Given the description of an element on the screen output the (x, y) to click on. 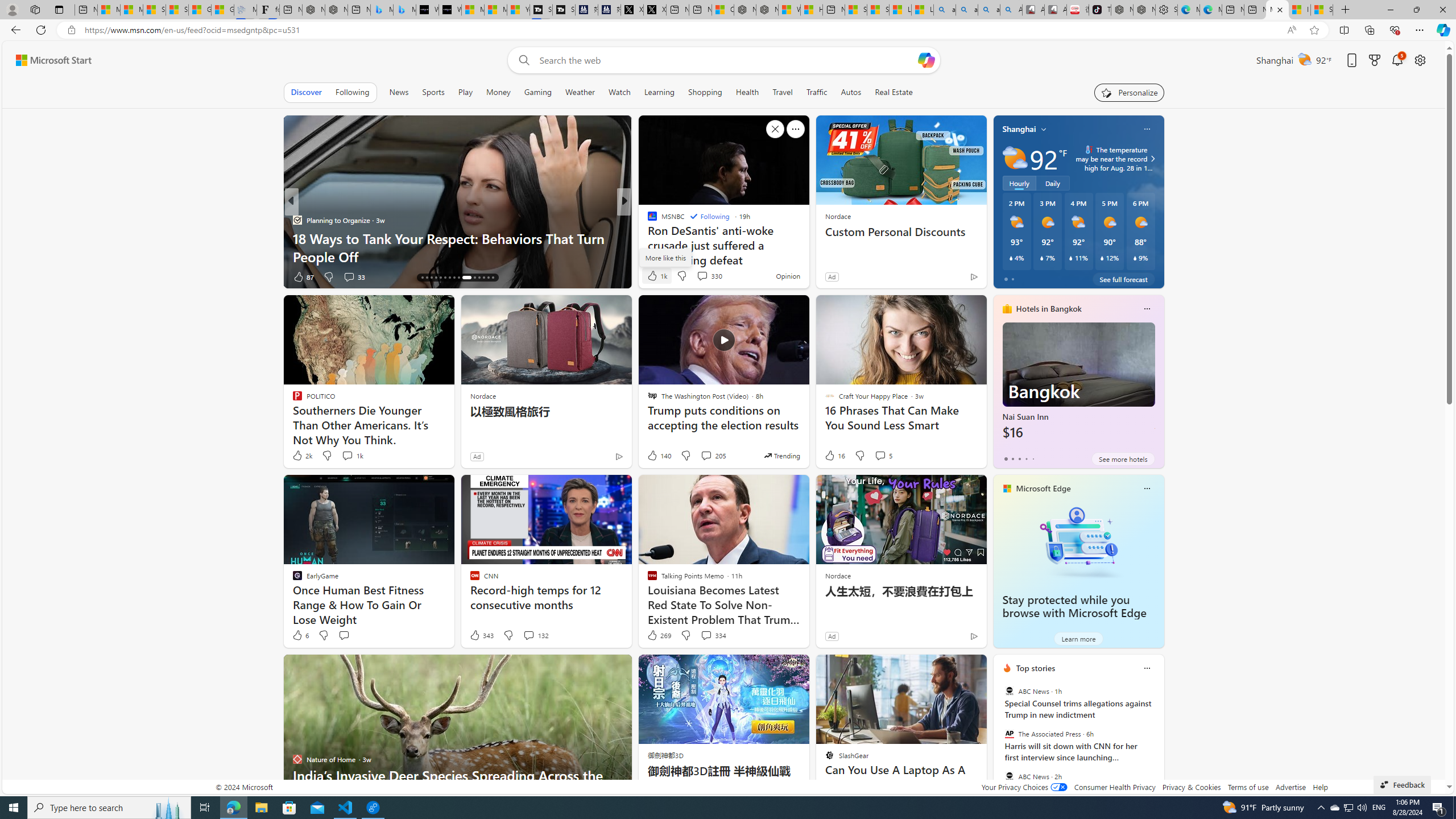
Newsweek (647, 219)
View comments 132 Comment (535, 634)
